Given the description of an element on the screen output the (x, y) to click on. 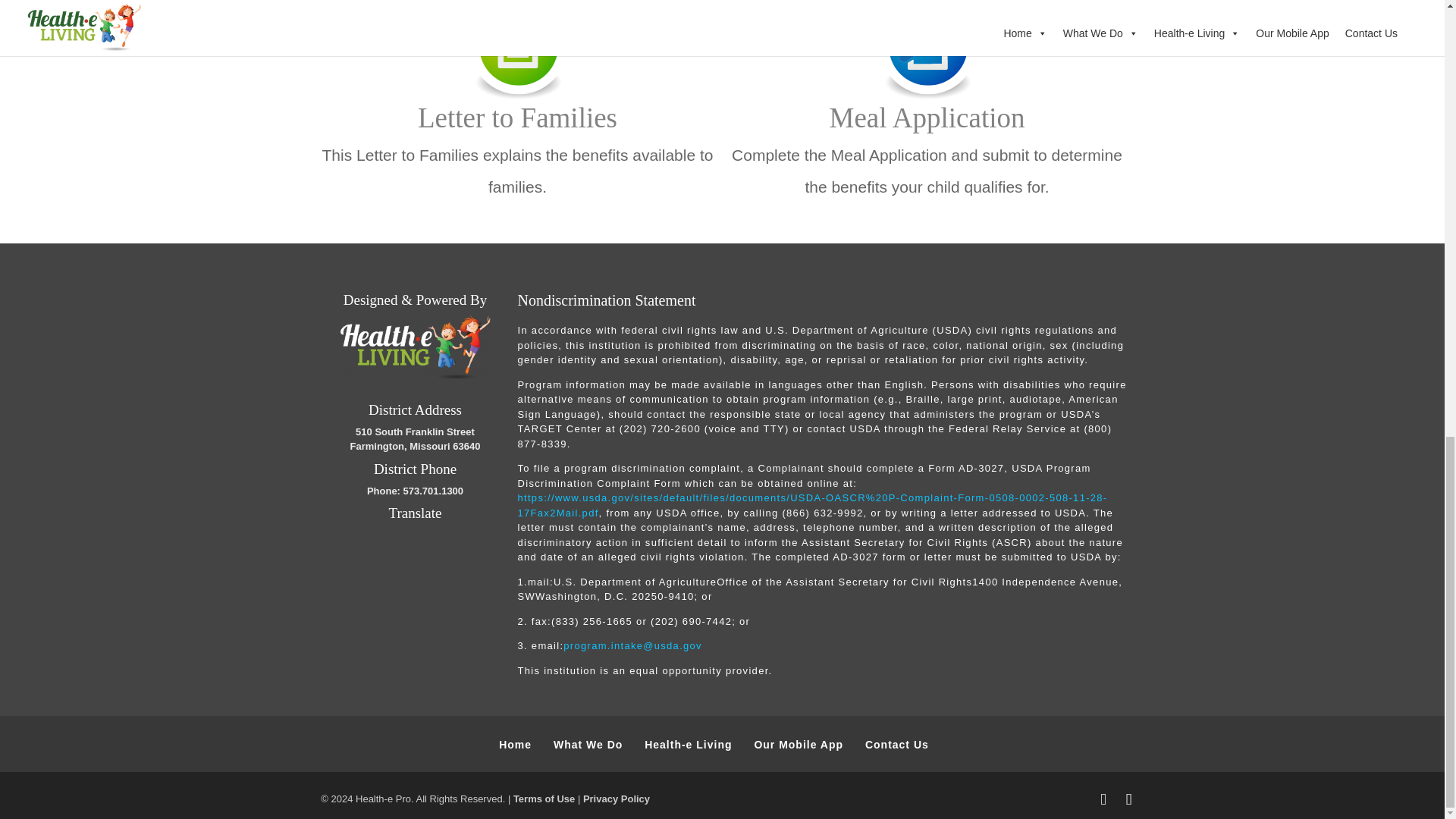
Terms of Use (544, 798)
Our Mobile App (798, 744)
Home (515, 744)
Health-e Living (688, 744)
Contact Us (896, 744)
Privacy Policy (616, 798)
What We Do (588, 744)
